Given the description of an element on the screen output the (x, y) to click on. 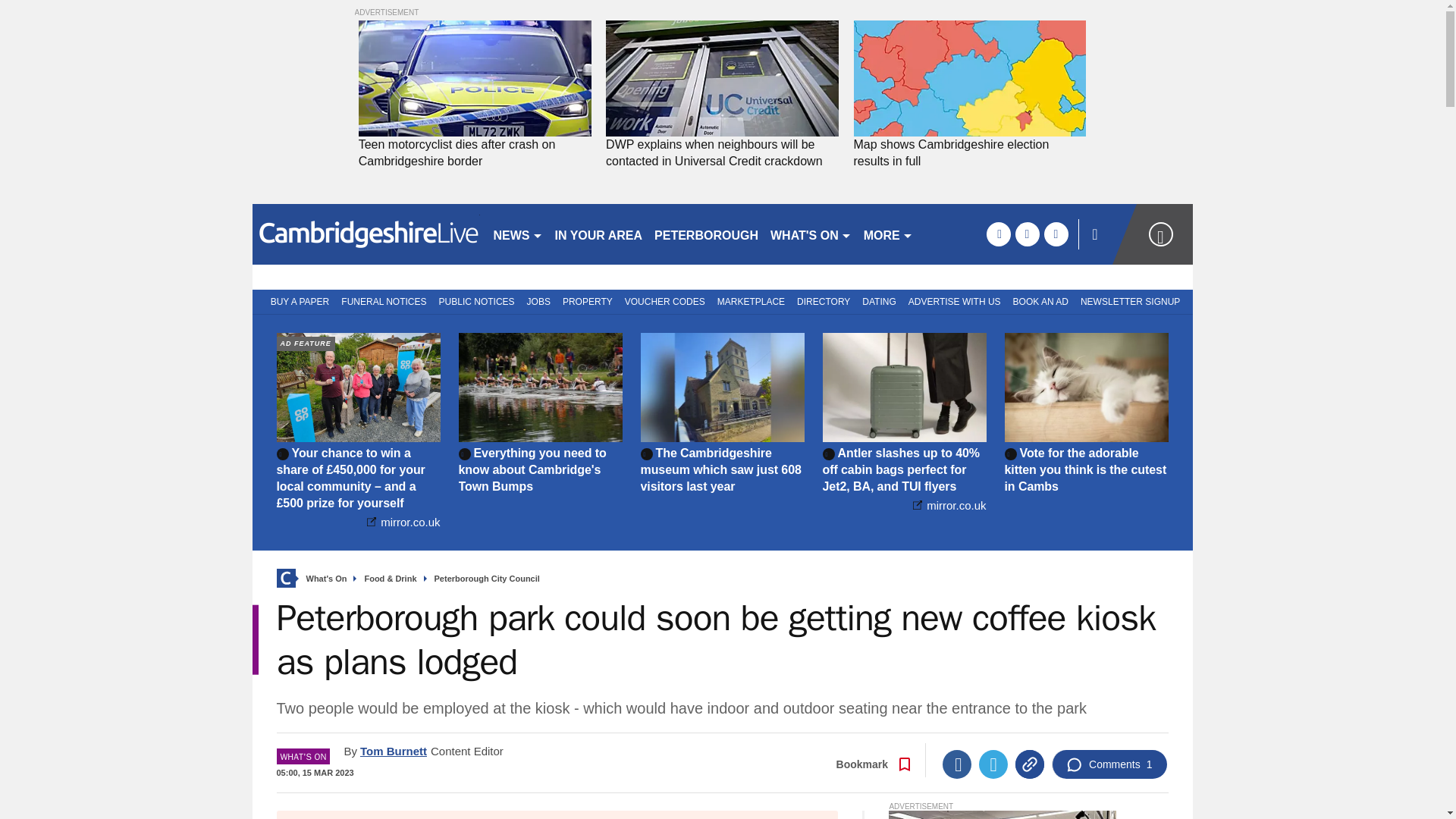
IN YOUR AREA (598, 233)
Teen motorcyclist dies after crash on Cambridgeshire border (474, 152)
facebook (997, 233)
cambridgenews (365, 233)
Map shows Cambridgeshire election results in full (969, 152)
Twitter (992, 764)
Comments (1108, 764)
PETERBOROUGH (705, 233)
Facebook (956, 764)
instagram (1055, 233)
Teen motorcyclist dies after crash on Cambridgeshire border (474, 152)
Map shows Cambridgeshire election results in full (969, 152)
WHAT'S ON (810, 233)
